Given the description of an element on the screen output the (x, y) to click on. 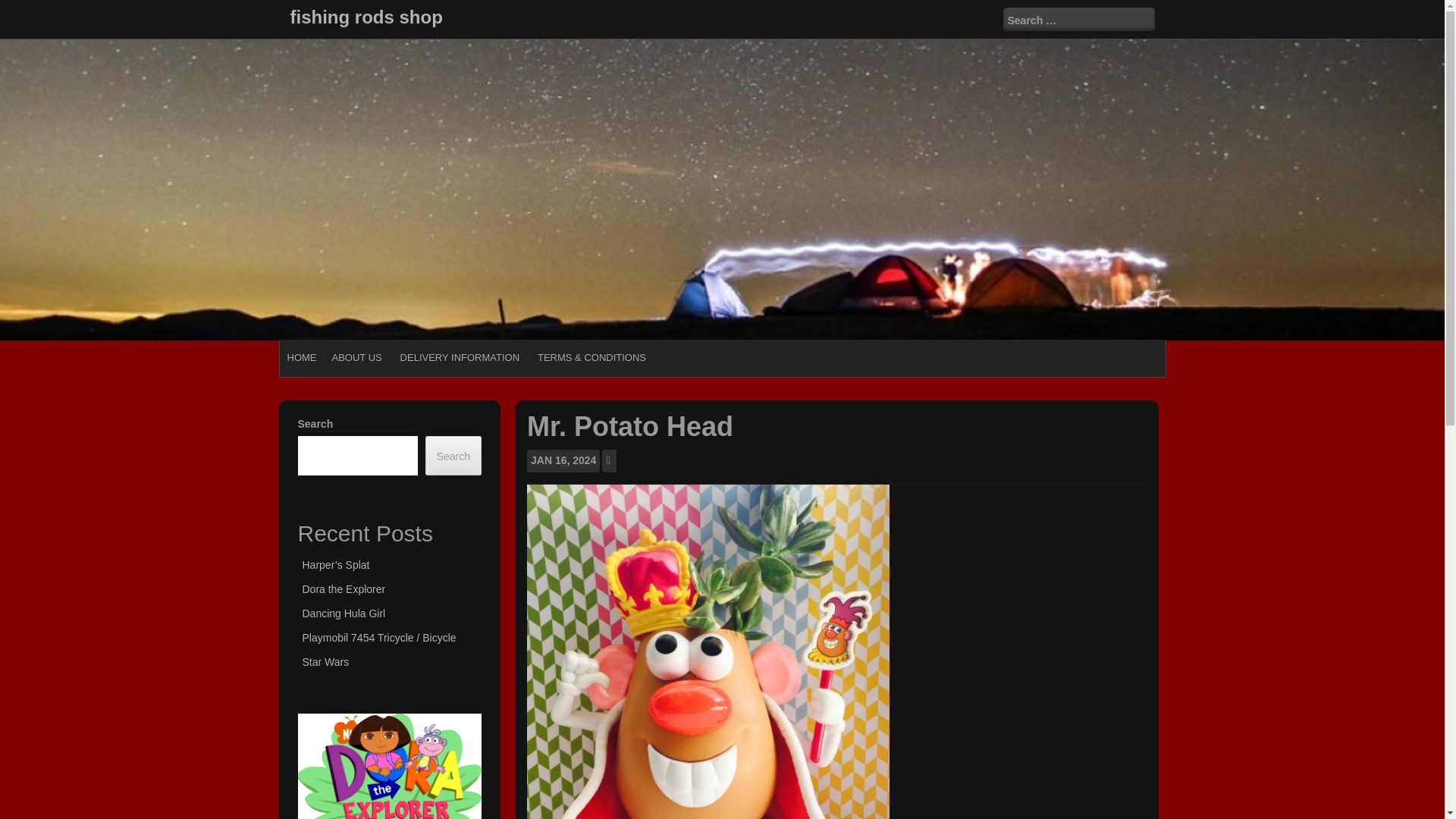
HOME (301, 358)
DELIVERY INFORMATION (460, 358)
Search (453, 455)
Search (24, 9)
fishing rods shop (365, 16)
Star Wars (325, 662)
Dancing Hula Girl (343, 613)
Dora the Explorer (343, 589)
ABOUT US (357, 358)
